Given the description of an element on the screen output the (x, y) to click on. 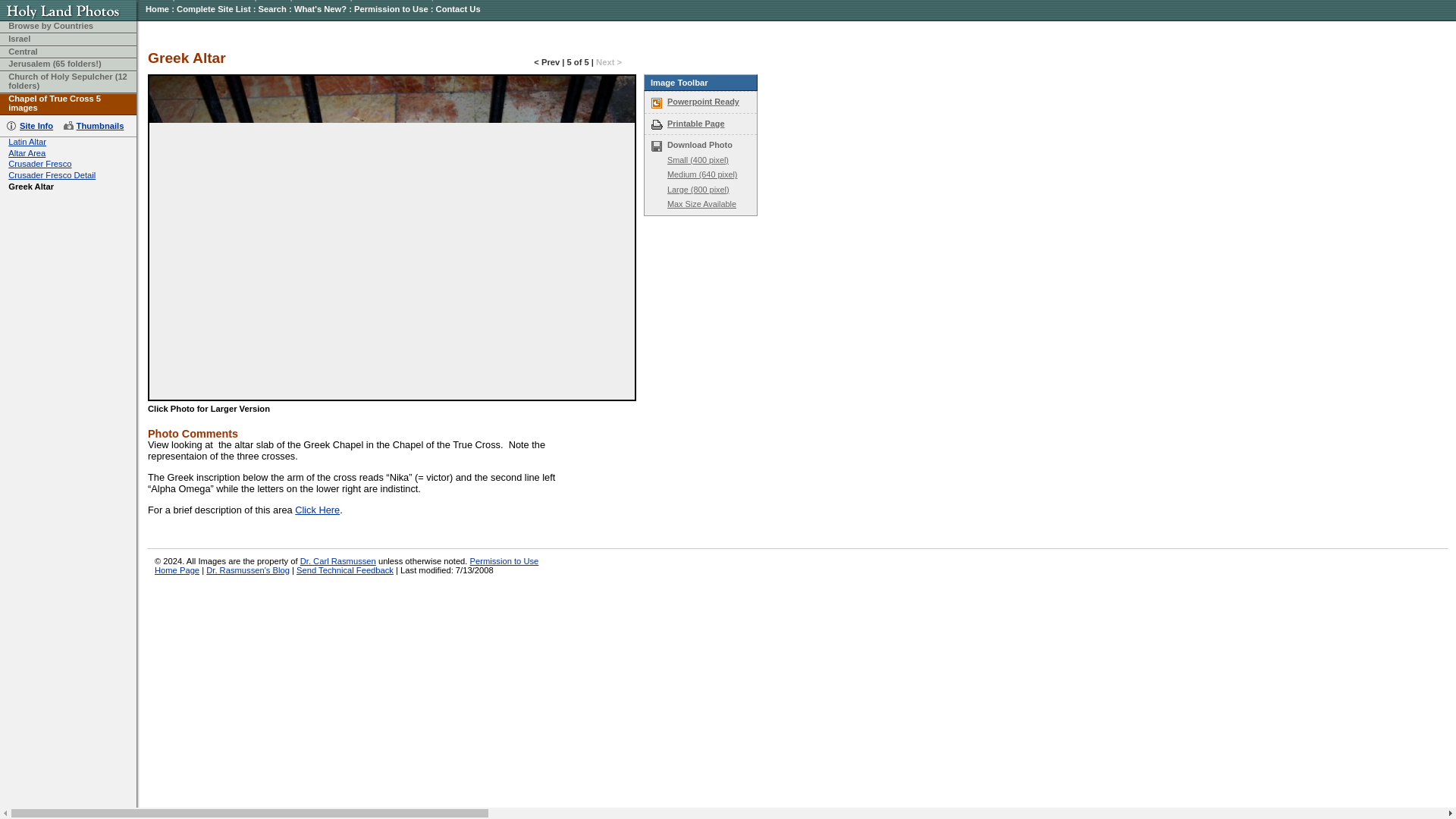
Thumbnails (93, 125)
Max: Largest available size (701, 203)
Medium: 640 pixel version (701, 174)
Crusader Fresco (39, 163)
Permission to Use (390, 8)
Site Info (32, 125)
Home (156, 8)
Latin Altar (27, 141)
Israel (19, 38)
Click Here (317, 509)
Site Info (32, 125)
Max Size Available (701, 203)
Crusader Fresco (39, 163)
Home (156, 8)
Complete Site List (213, 8)
